Given the description of an element on the screen output the (x, y) to click on. 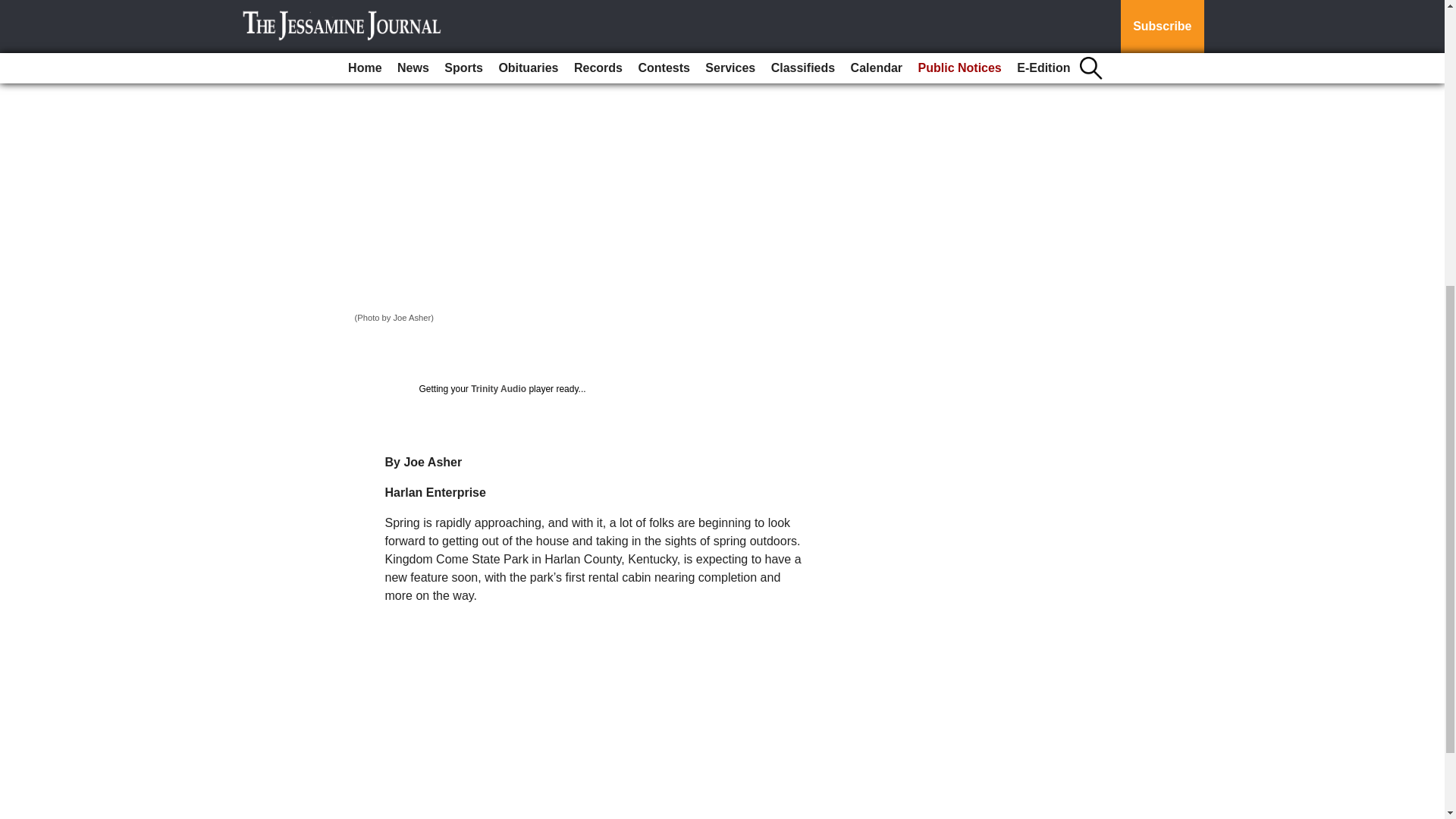
Trinity Audio (497, 388)
